Given the description of an element on the screen output the (x, y) to click on. 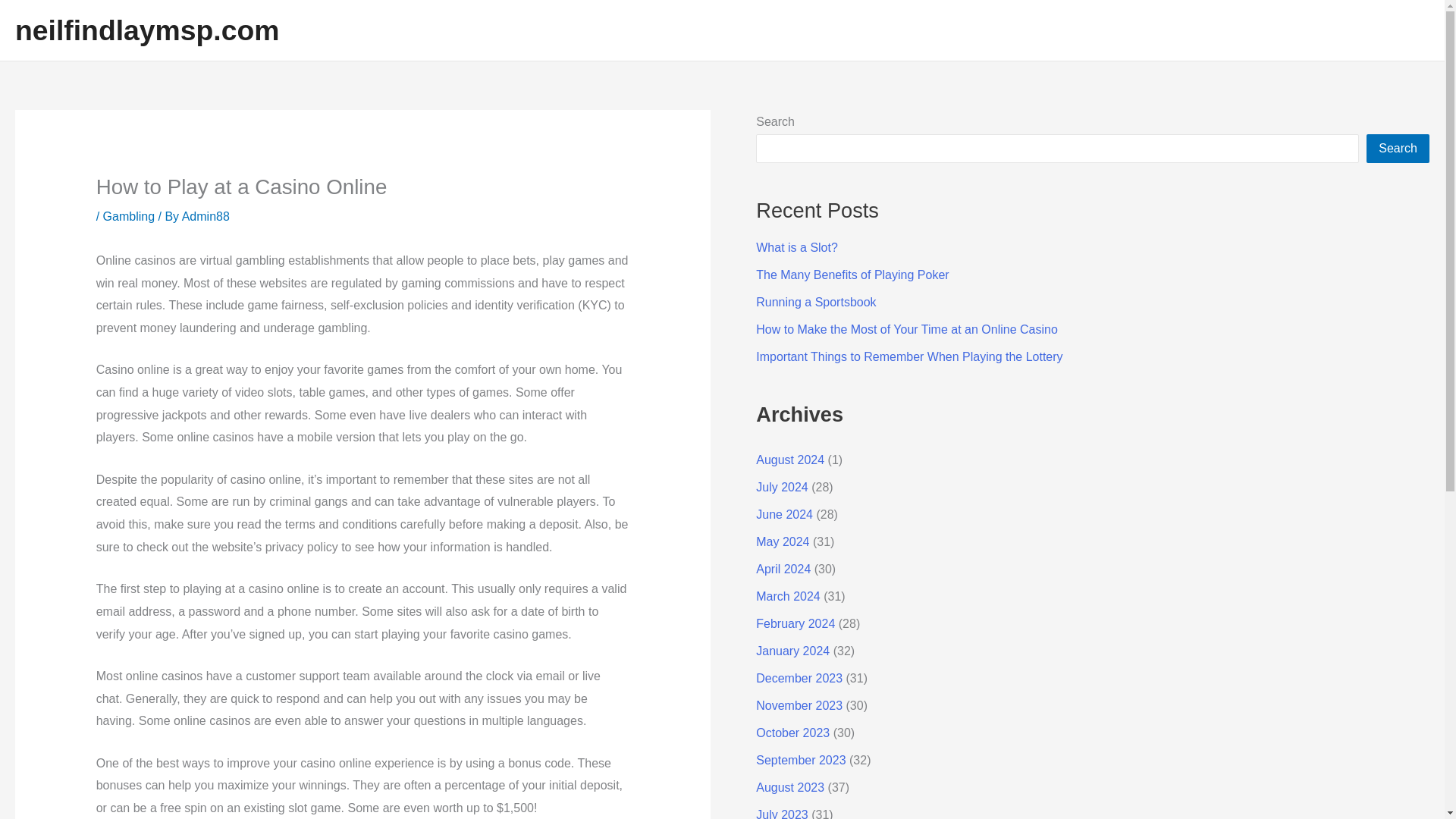
August 2024 (789, 459)
The Many Benefits of Playing Poker (852, 274)
December 2023 (799, 677)
Search (1398, 148)
November 2023 (799, 705)
February 2024 (794, 623)
January 2024 (792, 650)
How to Make the Most of Your Time at an Online Casino (906, 328)
July 2024 (781, 486)
What is a Slot? (796, 246)
October 2023 (792, 732)
Important Things to Remember When Playing the Lottery (908, 356)
Running a Sportsbook (815, 301)
July 2023 (781, 813)
Admin88 (206, 215)
